Given the description of an element on the screen output the (x, y) to click on. 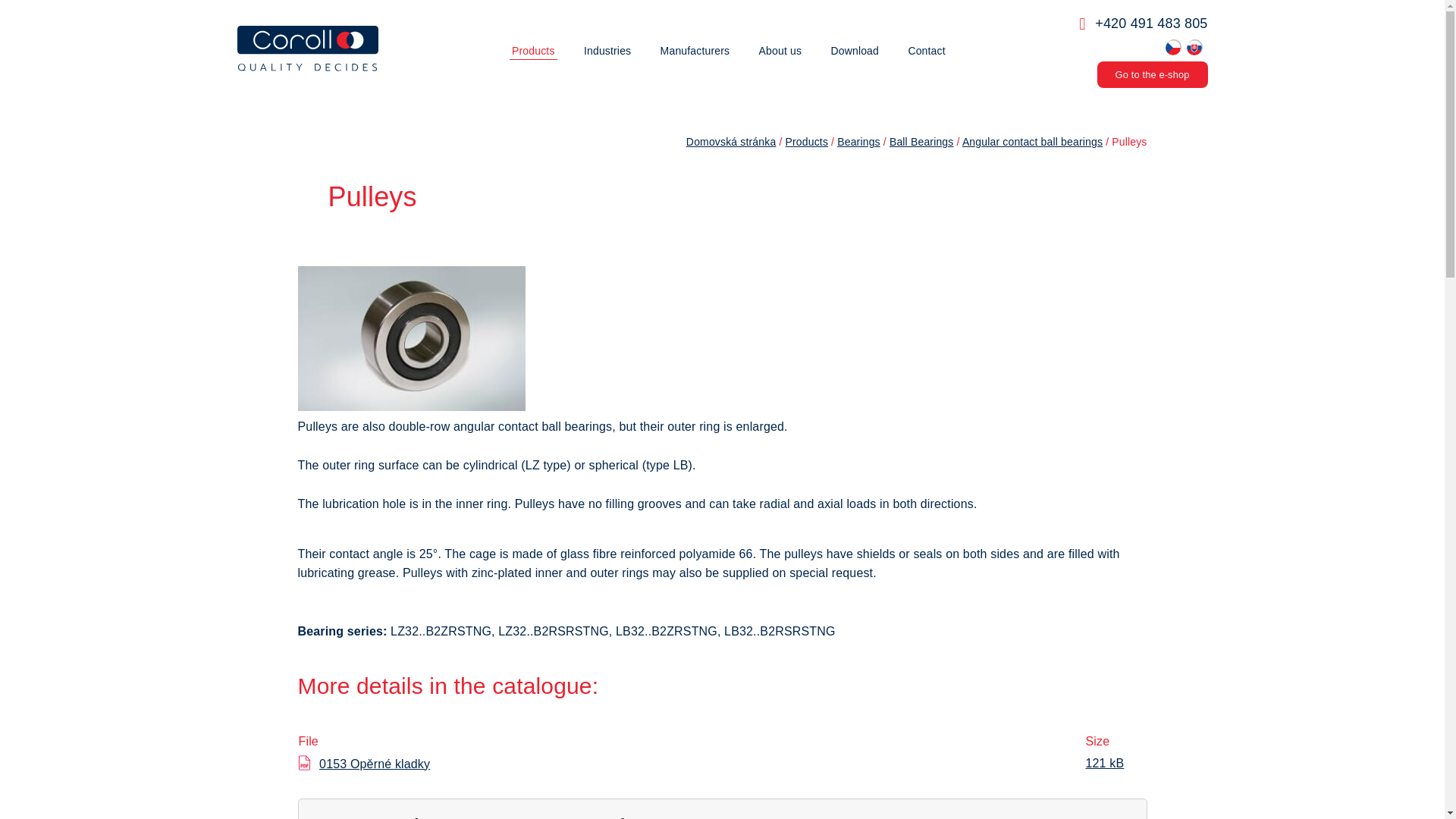
Manufacturers (695, 50)
About us (779, 50)
Contact (926, 50)
Products (533, 50)
Manufacturers (695, 50)
About us (779, 50)
Download (854, 50)
Download (854, 50)
Products (533, 50)
Industries (606, 50)
